Given the description of an element on the screen output the (x, y) to click on. 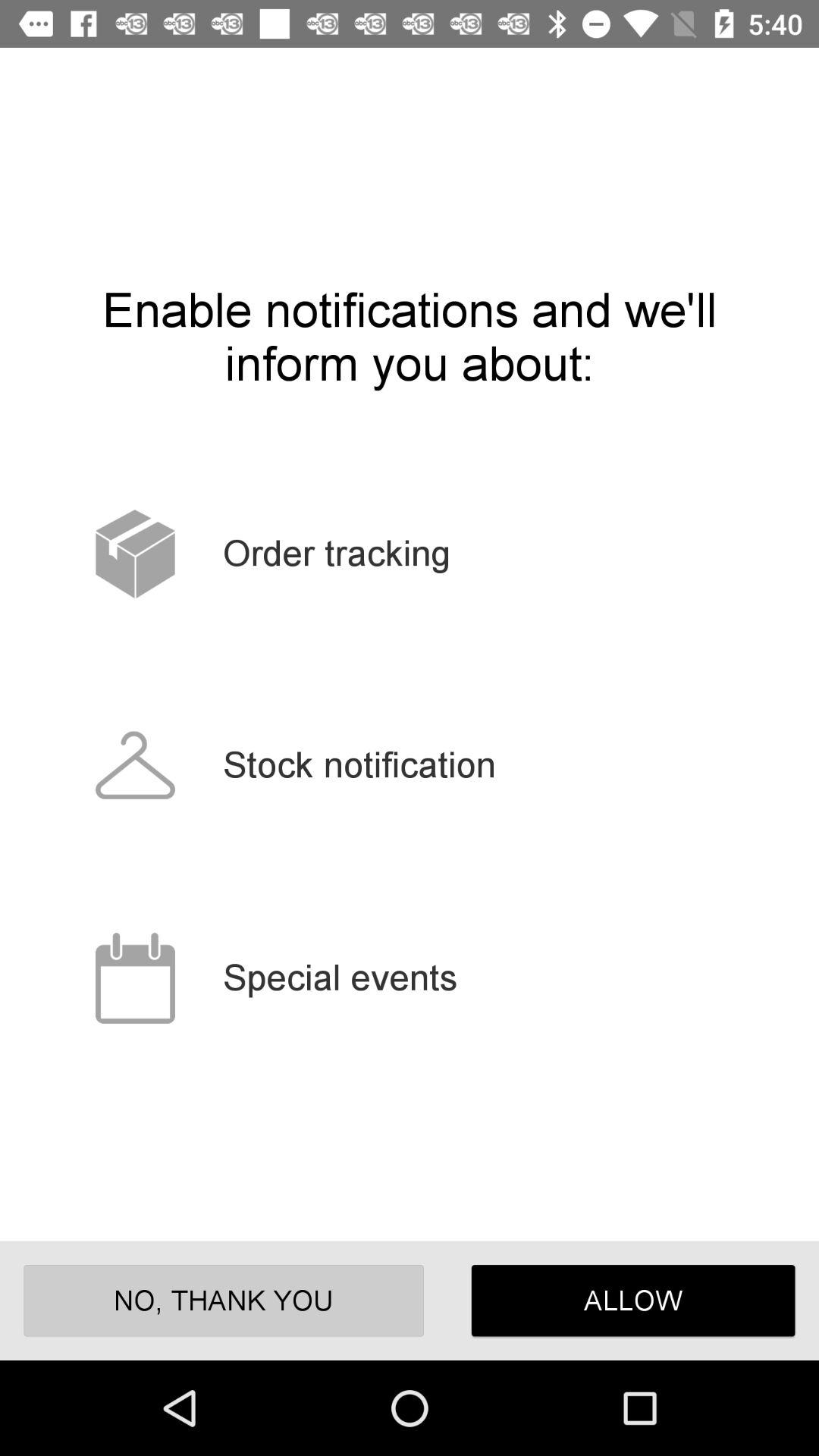
tap item below the stock notification (633, 1300)
